Given the description of an element on the screen output the (x, y) to click on. 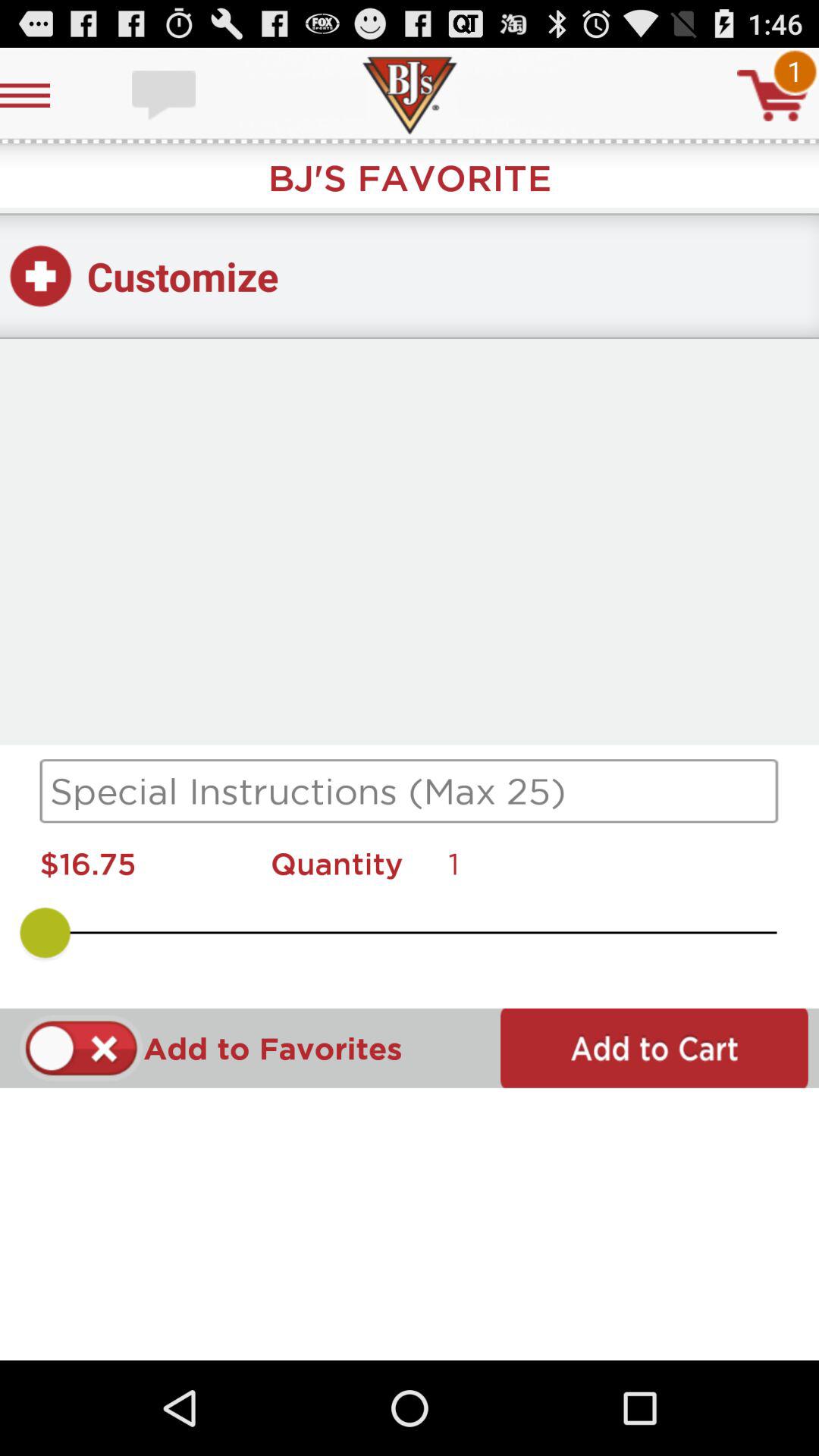
chats (165, 95)
